Given the description of an element on the screen output the (x, y) to click on. 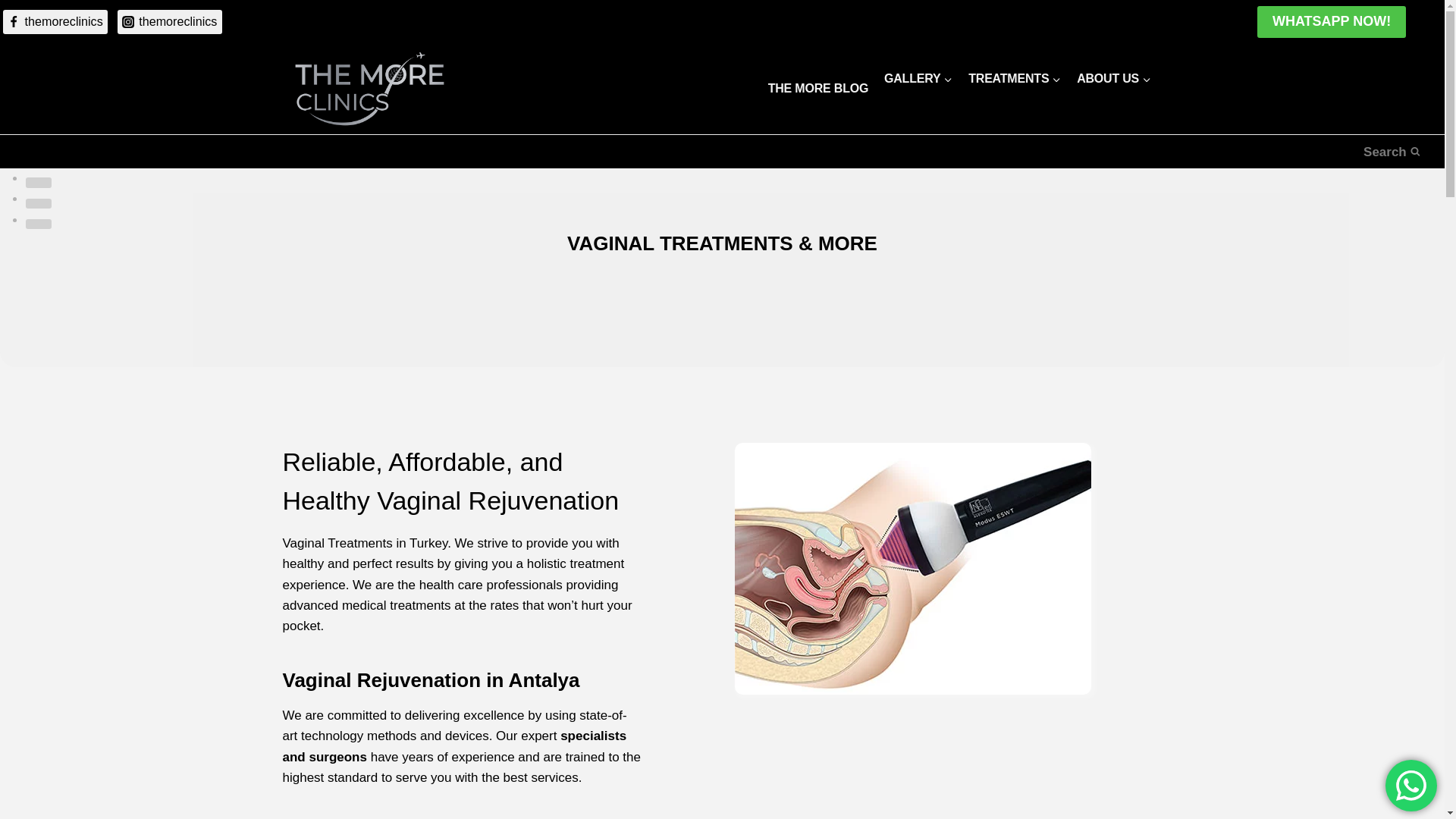
WHATSAPP NOW! (1331, 21)
TREATMENTS (1014, 78)
themoreclinics (54, 21)
THE MORE BLOG (818, 88)
themoreclinics (169, 21)
WhatsApp us (1411, 785)
GALLERY (918, 78)
